Given the description of an element on the screen output the (x, y) to click on. 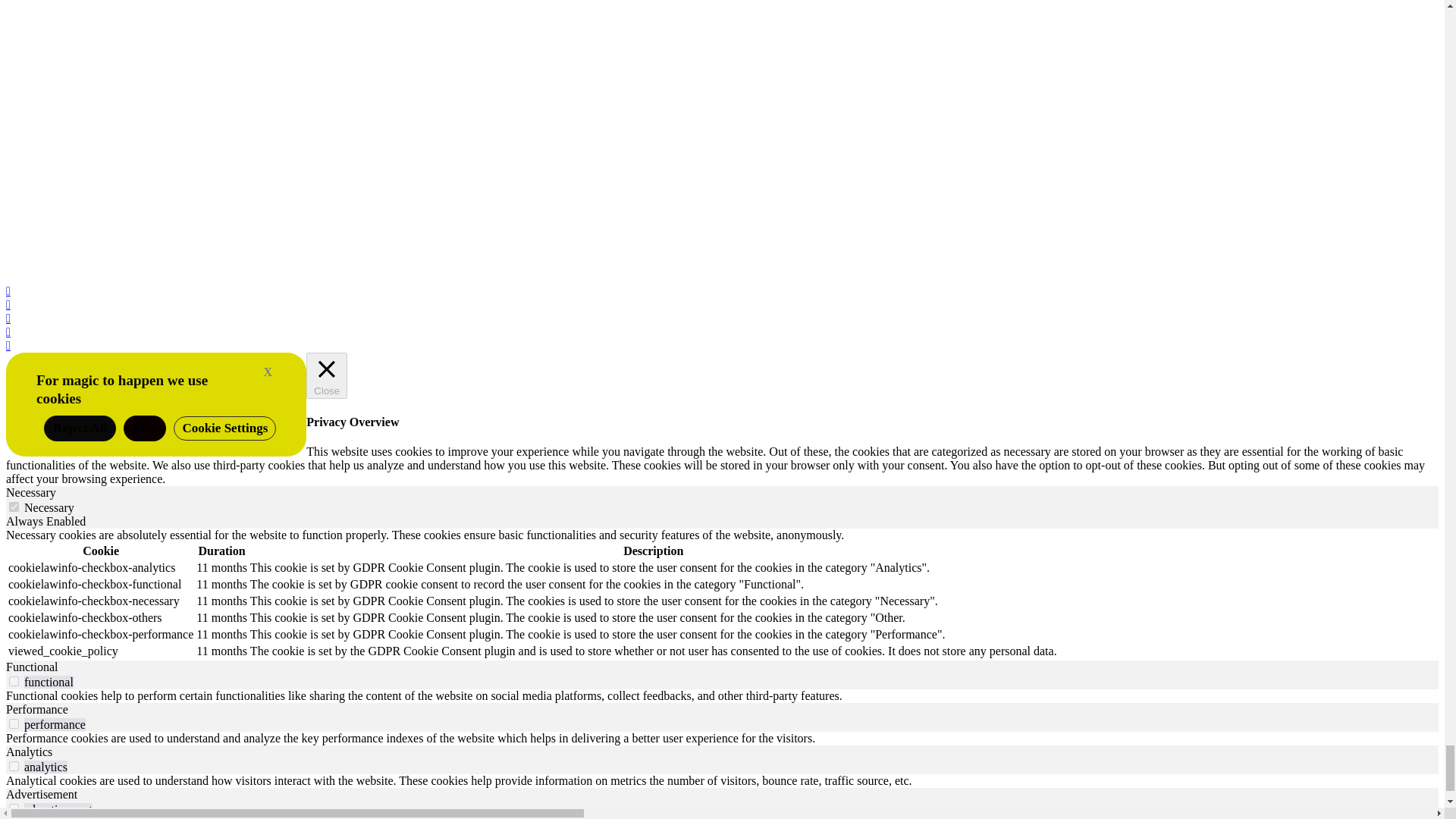
Close and Accept (267, 371)
on (13, 808)
on (13, 723)
on (13, 506)
on (13, 681)
on (13, 766)
